Given the description of an element on the screen output the (x, y) to click on. 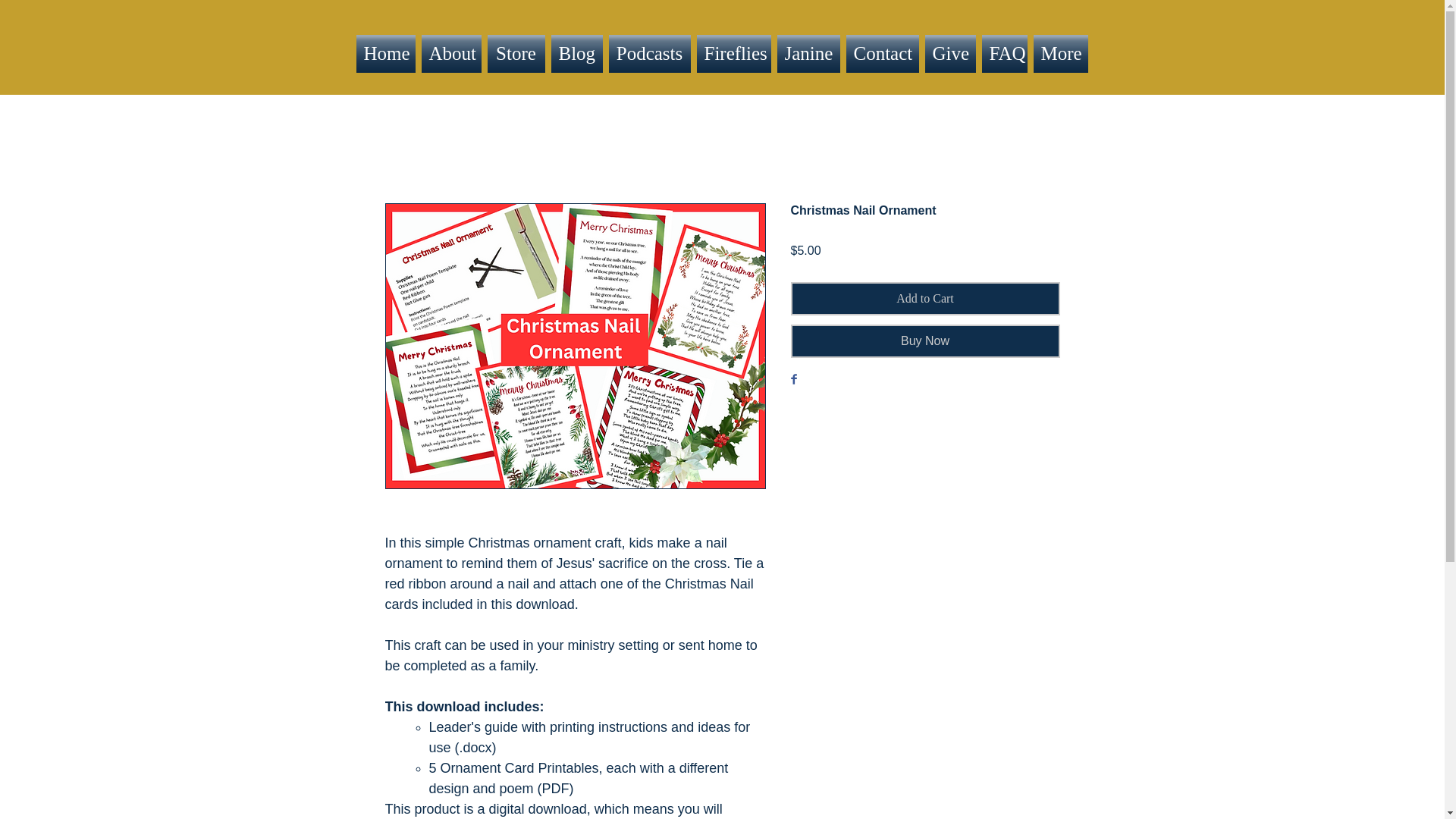
Buy Now (924, 340)
Add to Cart (924, 298)
Contact (882, 53)
Janine (808, 53)
About (451, 53)
Fireflies (733, 53)
Home (387, 53)
Podcasts (649, 53)
Give (949, 53)
FAQ (1003, 53)
Blog (576, 53)
Store (515, 53)
